Given the description of an element on the screen output the (x, y) to click on. 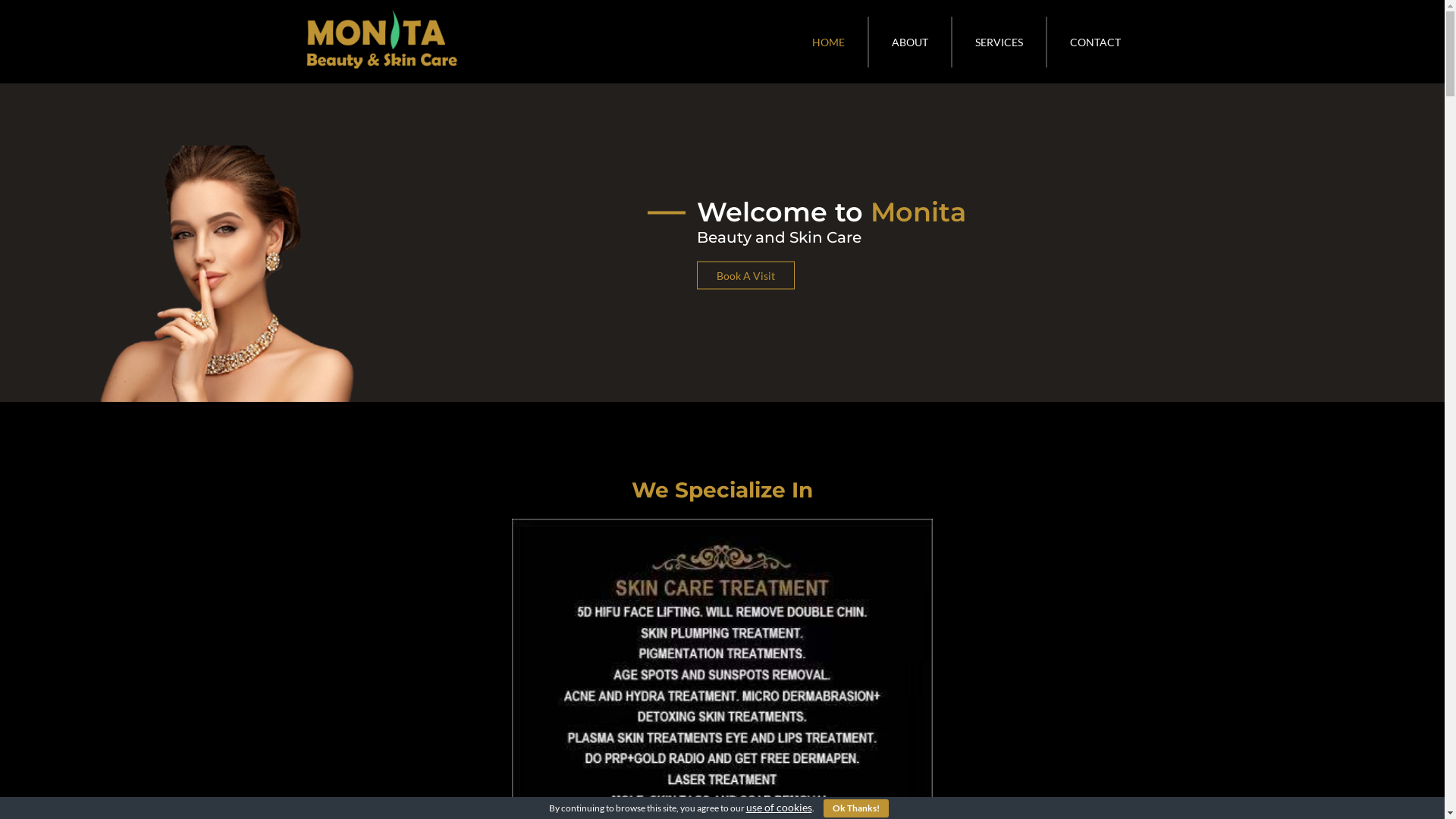
SERVICES Element type: text (999, 41)
CONTACT Element type: text (1094, 41)
ABOUT Element type: text (910, 41)
use of cookies Element type: text (779, 806)
Book A Visit Element type: text (744, 274)
HOME Element type: text (828, 41)
Ok Thanks! Element type: text (855, 808)
